Given the description of an element on the screen output the (x, y) to click on. 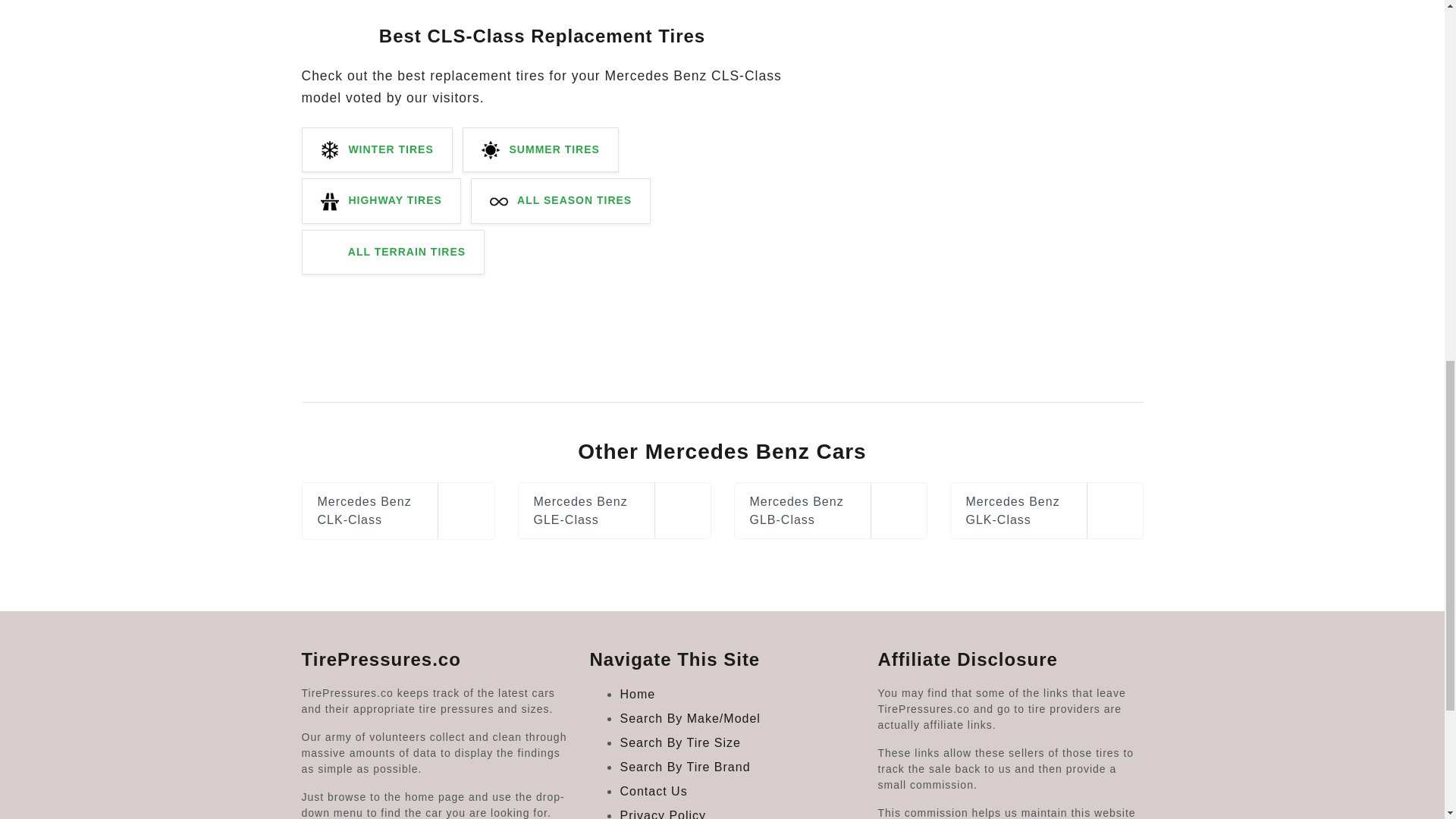
Search By Tire Size (680, 742)
ALL SEASON TIRES (560, 200)
Home (637, 694)
Mercedes Benz GLE-Class (613, 510)
Mercedes Benz CLK-Class (398, 510)
WINTER TIRES (376, 149)
HIGHWAY TIRES (381, 200)
SUMMER TIRES (540, 149)
Mercedes Benz GLK-Class (1045, 510)
Mercedes Benz GLB-Class (830, 510)
